Given the description of an element on the screen output the (x, y) to click on. 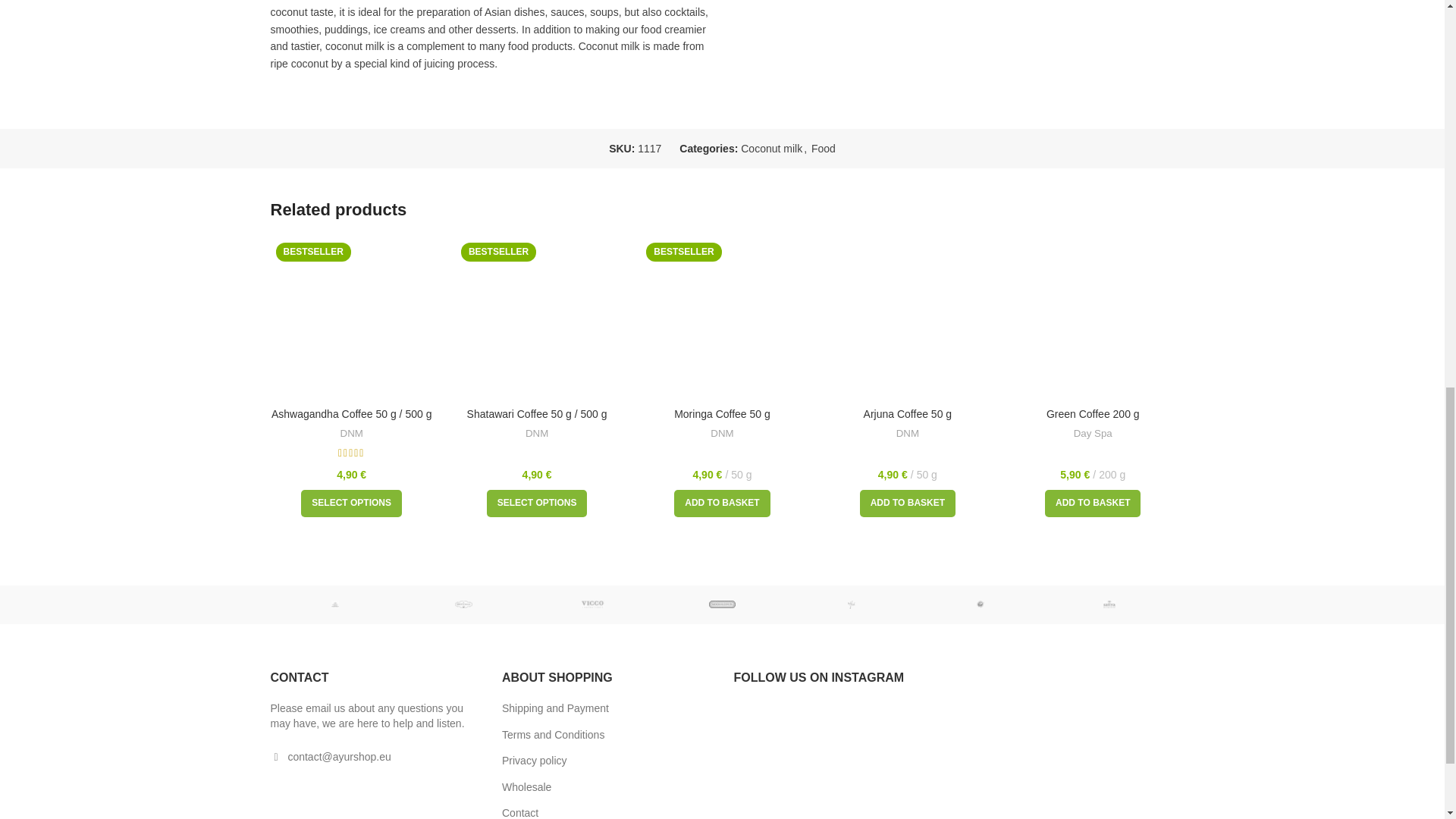
Organic India (333, 604)
Vicco Laboratories (593, 604)
Shoti Maa (463, 604)
Sattva (1109, 604)
Siddhalepa (722, 604)
Hesh (851, 604)
Everest Ayurveda (980, 604)
